Given the description of an element on the screen output the (x, y) to click on. 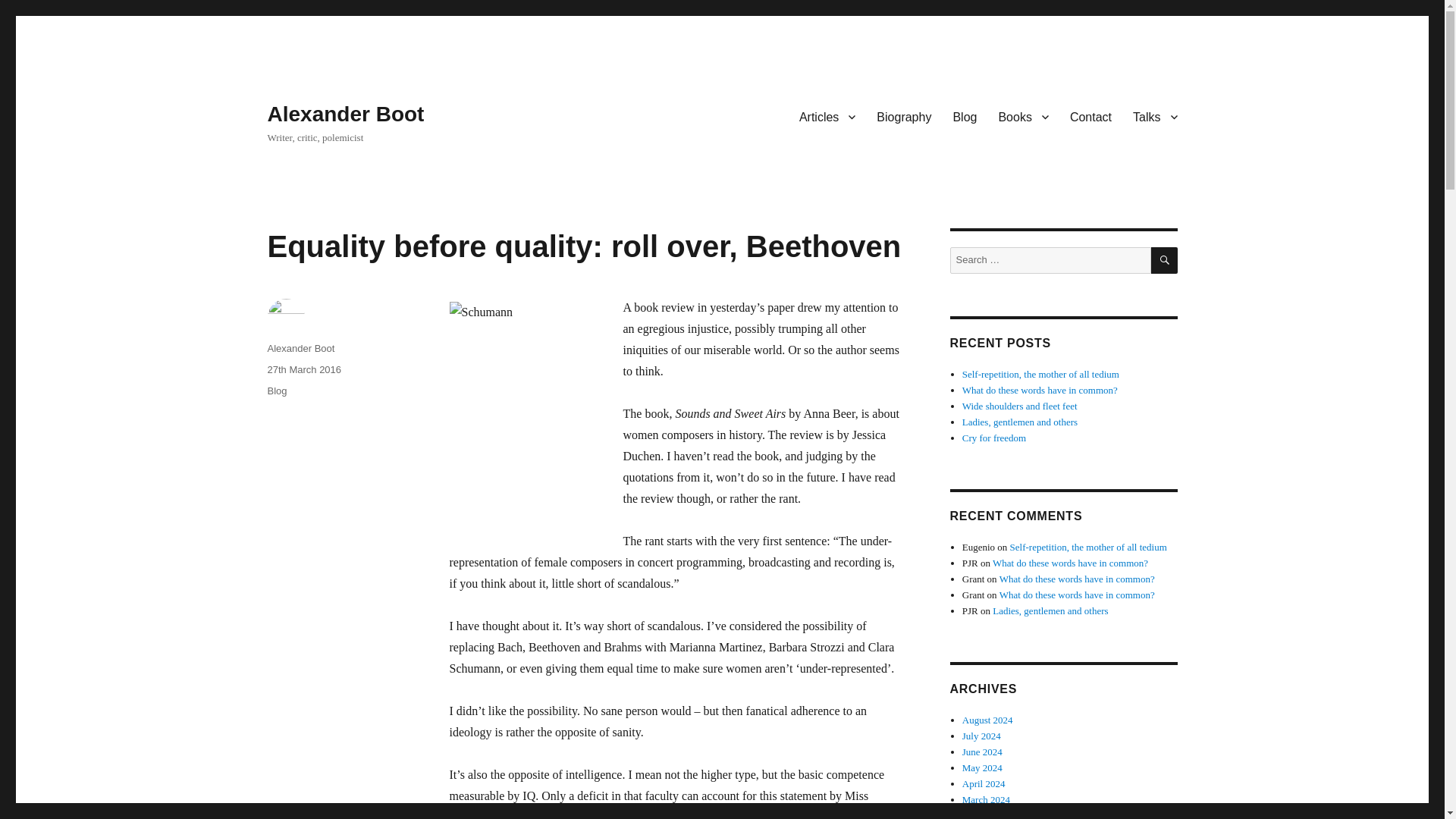
Wide shoulders and fleet feet (1019, 405)
Ladies, gentlemen and others (1019, 421)
Books (1022, 116)
Alexander Boot (344, 114)
Blog (276, 390)
Blog (964, 116)
SEARCH (1164, 260)
Self-repetition, the mother of all tedium (1088, 546)
What do these words have in common? (1070, 562)
Contact (1090, 116)
